Given the description of an element on the screen output the (x, y) to click on. 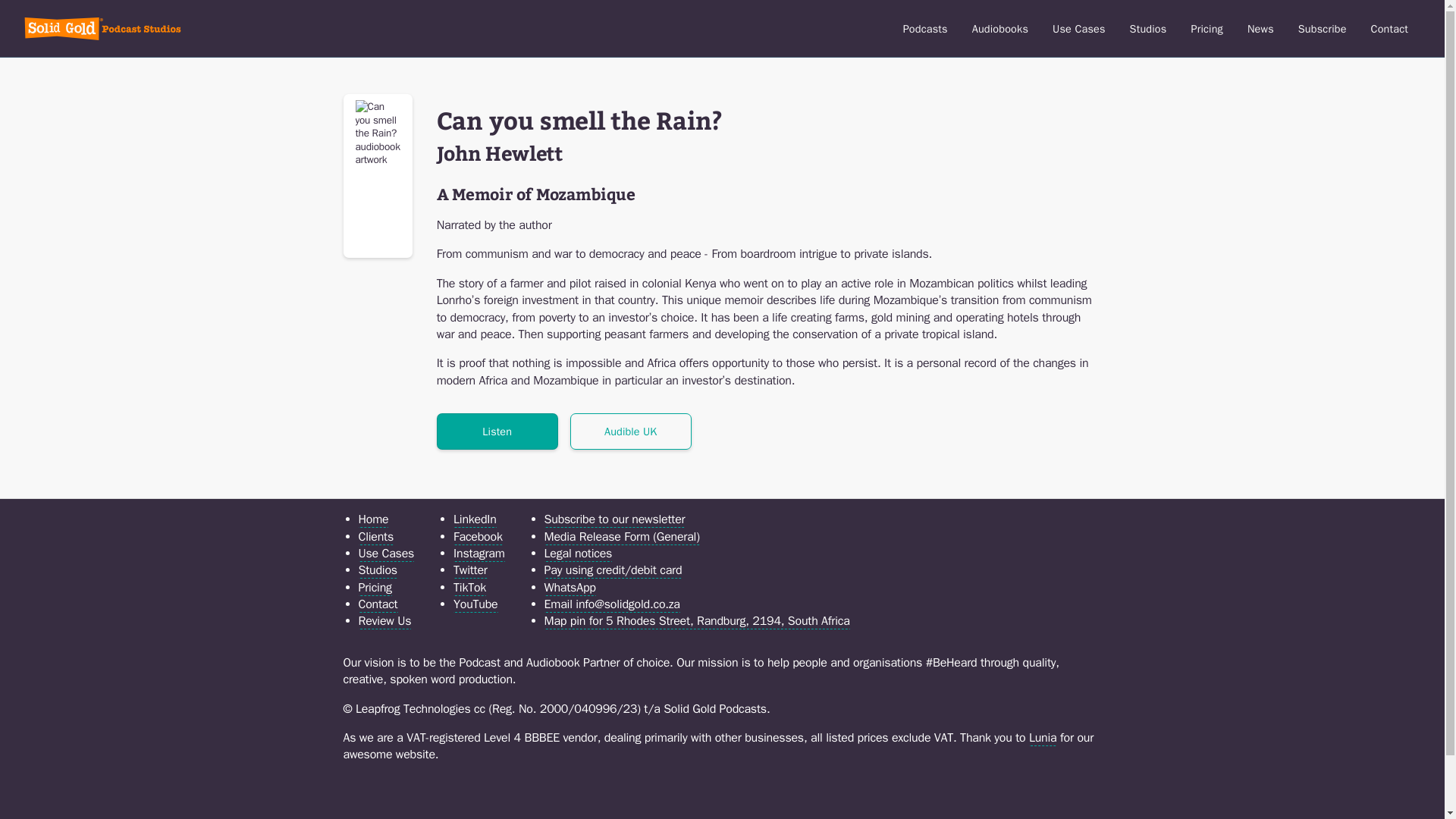
YouTube (474, 604)
LinkedIn (474, 519)
Listen (496, 431)
Clients (375, 537)
Contact (1389, 28)
Map pin for 5 Rhodes Street, Randburg, 2194, South Africa (697, 621)
Contact Solid Gold Podcast and Audiobook Studios (1389, 28)
Twitter (469, 570)
Solid Gold Podcast and Audiobook Studios (1148, 28)
Lunia (1043, 738)
Podcasts (925, 28)
Studios (1148, 28)
Studios (377, 570)
Home (102, 27)
